Given the description of an element on the screen output the (x, y) to click on. 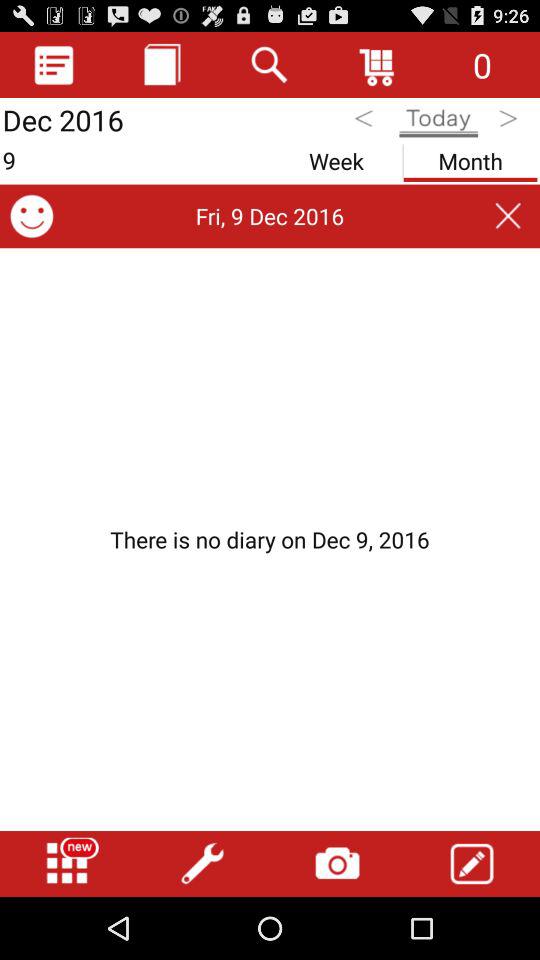
open menu (67, 863)
